Given the description of an element on the screen output the (x, y) to click on. 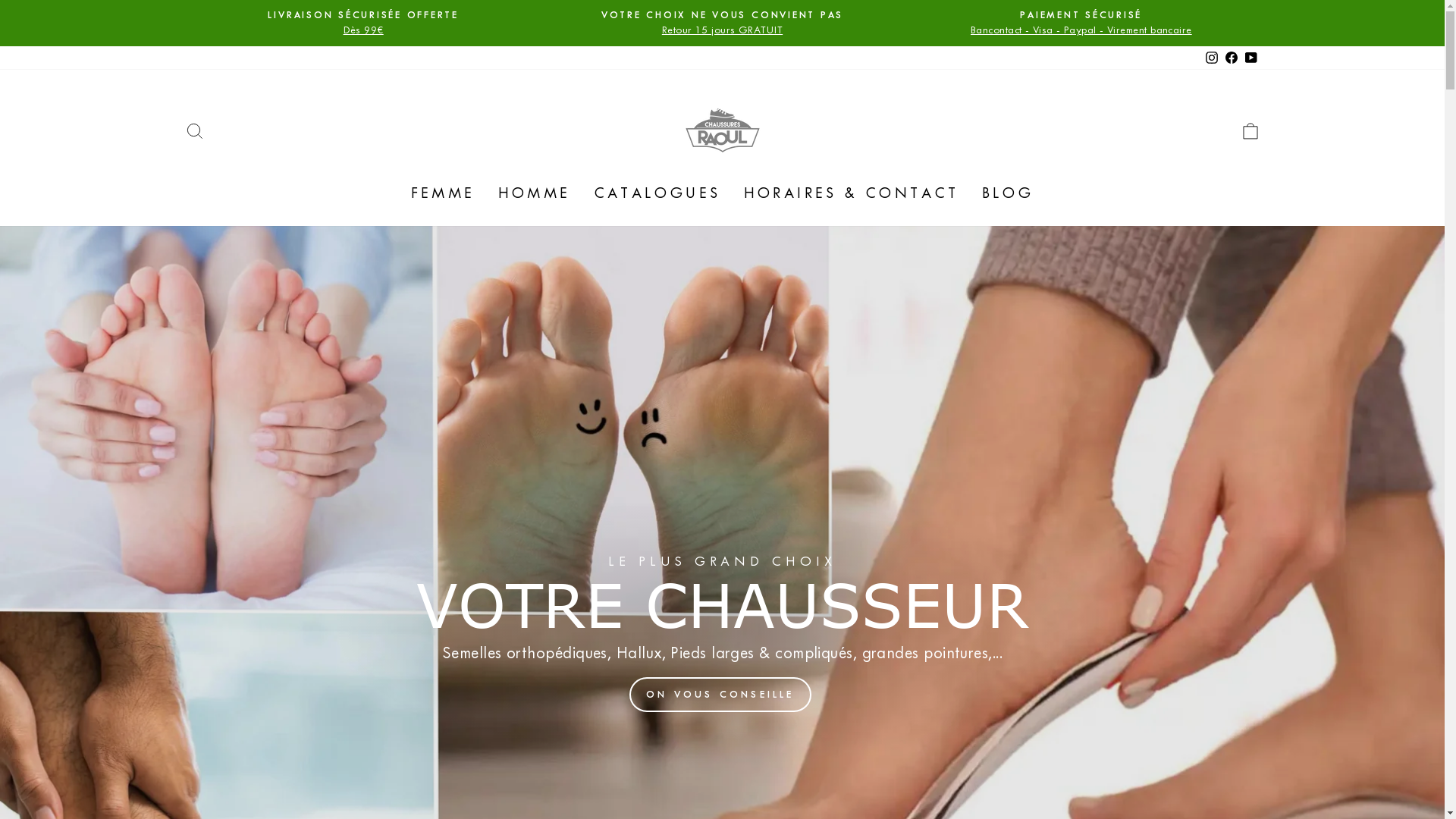
Facebook Element type: text (1230, 57)
VOTRE CHOIX NE VOUS CONVIENT PAS
Retour 15 jours GRATUIT Element type: text (721, 22)
RECHERCHER Element type: text (193, 129)
CATALOGUES Element type: text (657, 192)
FEMME Element type: text (442, 192)
Instagram Element type: text (1210, 57)
BLOG Element type: text (1007, 192)
ON VOUS CONSEILLE Element type: text (719, 694)
PANIER Element type: text (1249, 129)
HORAIRES & CONTACT Element type: text (851, 192)
HOMME Element type: text (534, 192)
YouTube Element type: text (1250, 57)
